Given the description of an element on the screen output the (x, y) to click on. 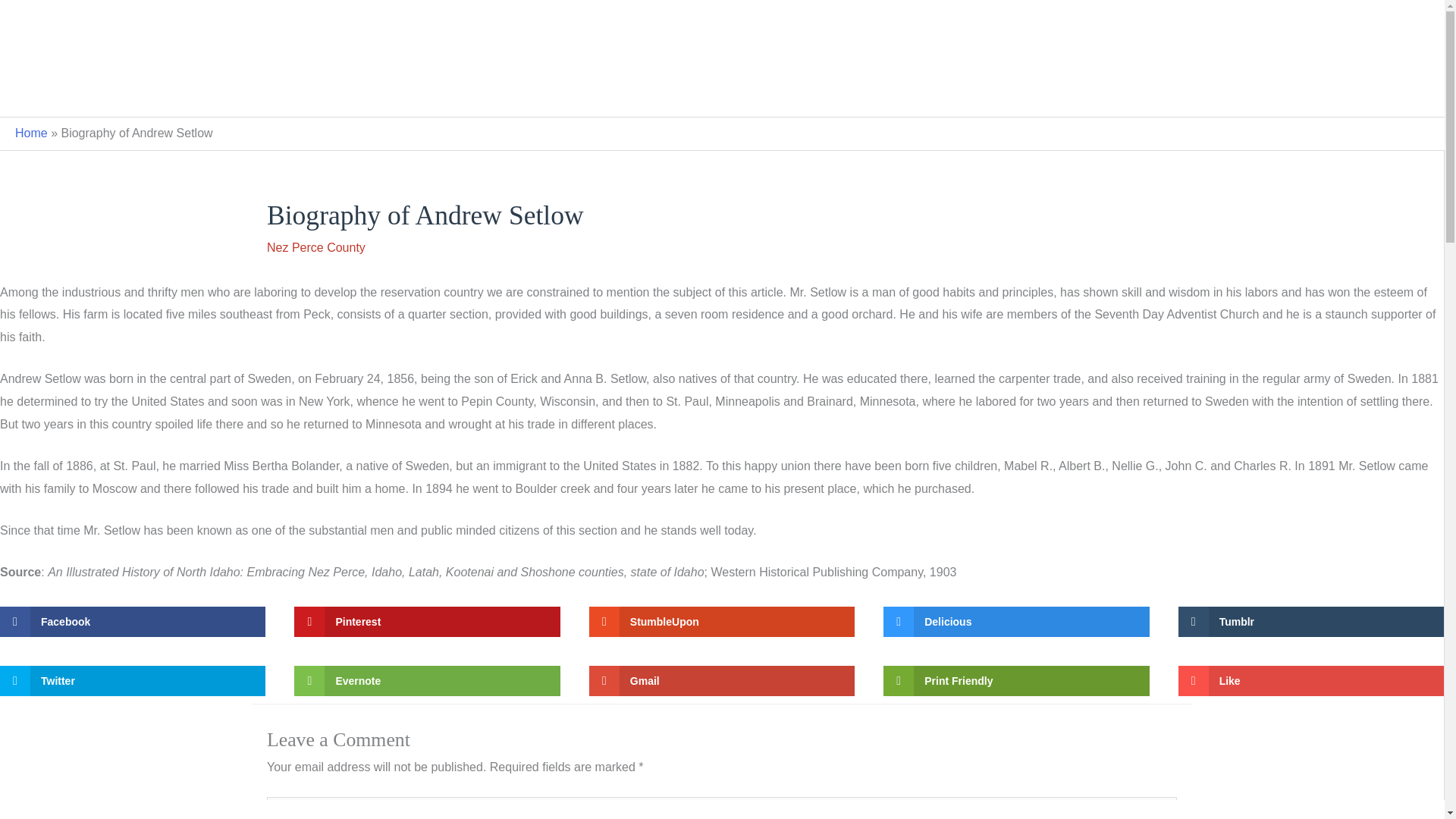
Nez Perce County (315, 246)
Idaho Genealogy (722, 26)
Delicious (1015, 621)
Pinterest (426, 621)
Twitter (132, 680)
Tumblr (1310, 621)
Nez Perce County (1071, 92)
Like (1310, 680)
Home (31, 132)
Evernote (426, 680)
